Given the description of an element on the screen output the (x, y) to click on. 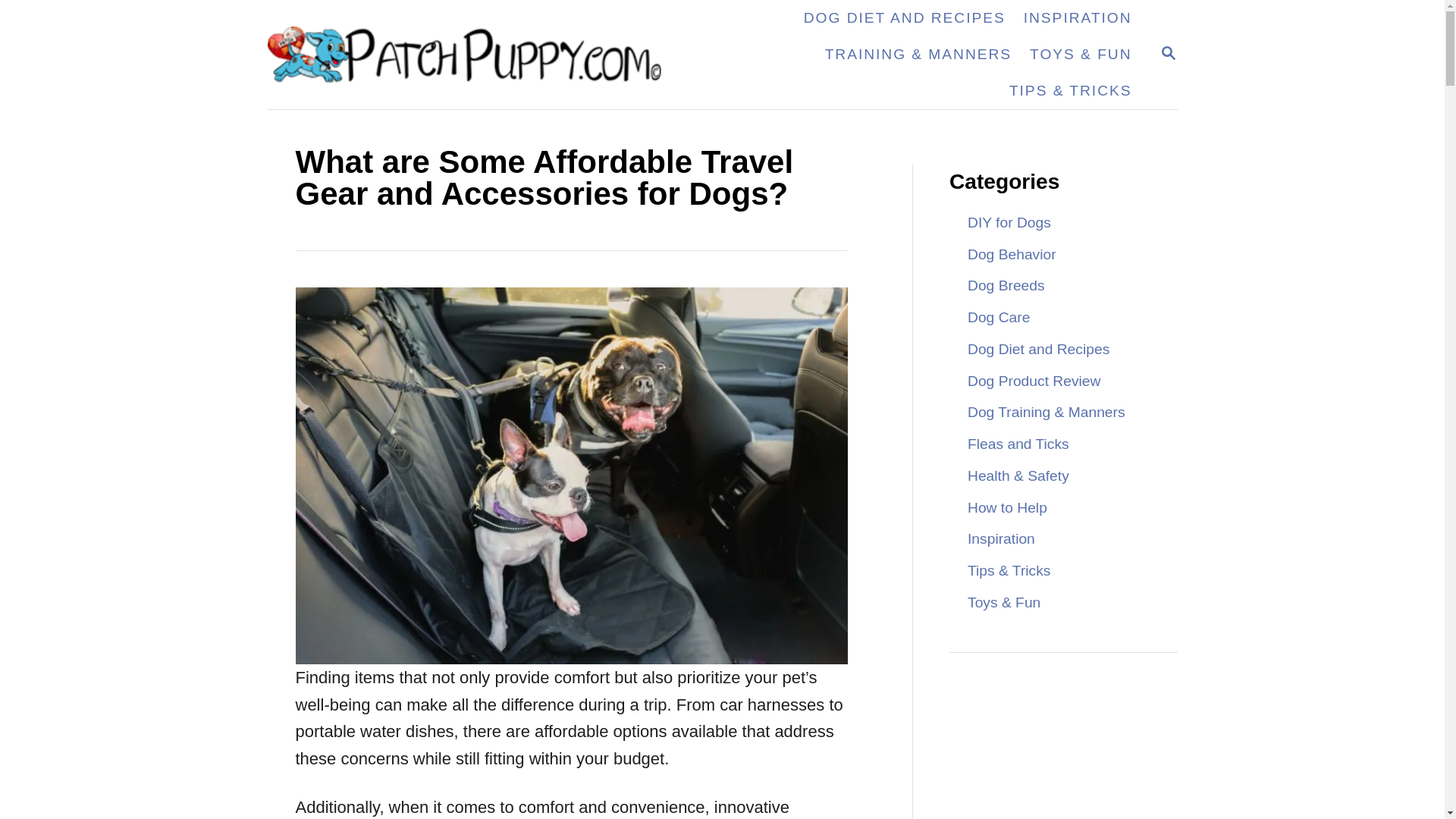
Dog Breeds (1005, 285)
Dog Diet and Recipes (1037, 349)
MAGNIFYING GLASS (1167, 53)
PatchPuppy.com (472, 54)
DIY for Dogs (1167, 54)
INSPIRATION (1008, 222)
How to Help (1077, 18)
Dog Product Review (1007, 507)
DOG DIET AND RECIPES (1033, 380)
Fleas and Ticks (904, 18)
Dog Behavior (1018, 443)
Inspiration (1011, 254)
Dog Care (1000, 538)
